Given the description of an element on the screen output the (x, y) to click on. 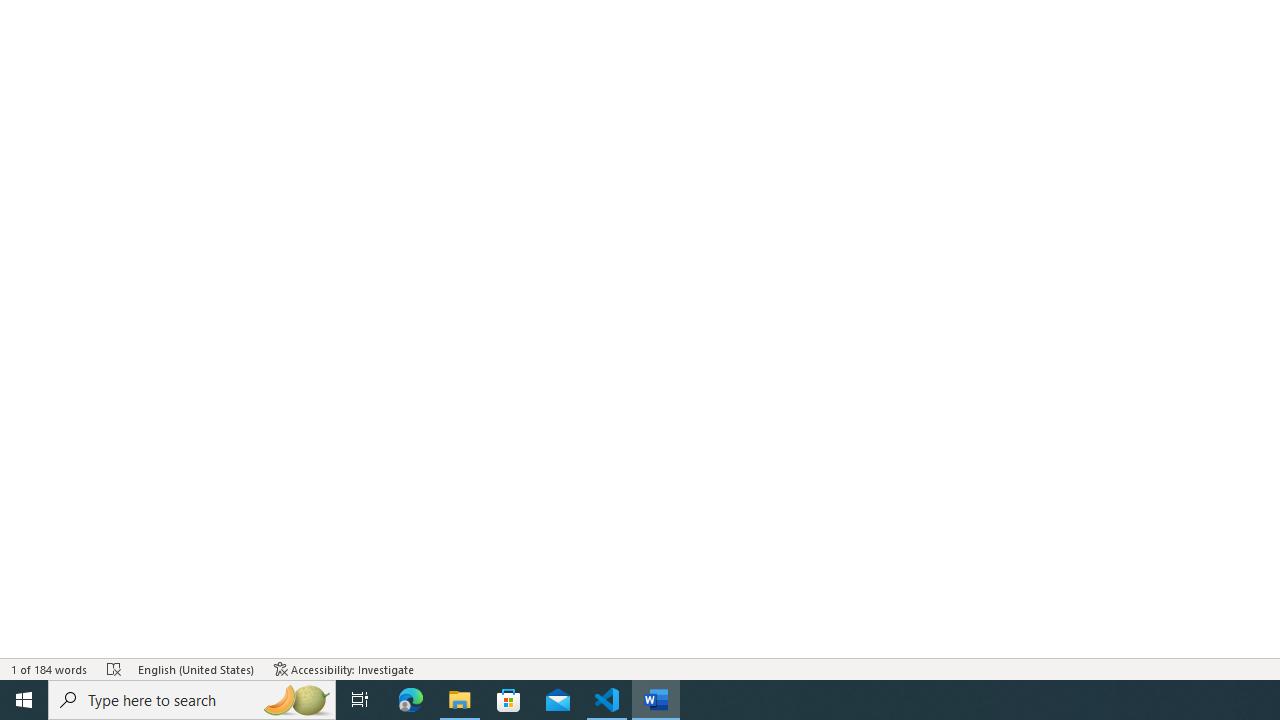
Spelling and Grammar Check Errors (114, 668)
Word Count 1 of 184 words (49, 668)
Language English (United States) (196, 668)
Accessibility Checker Accessibility: Investigate (344, 668)
